Given the description of an element on the screen output the (x, y) to click on. 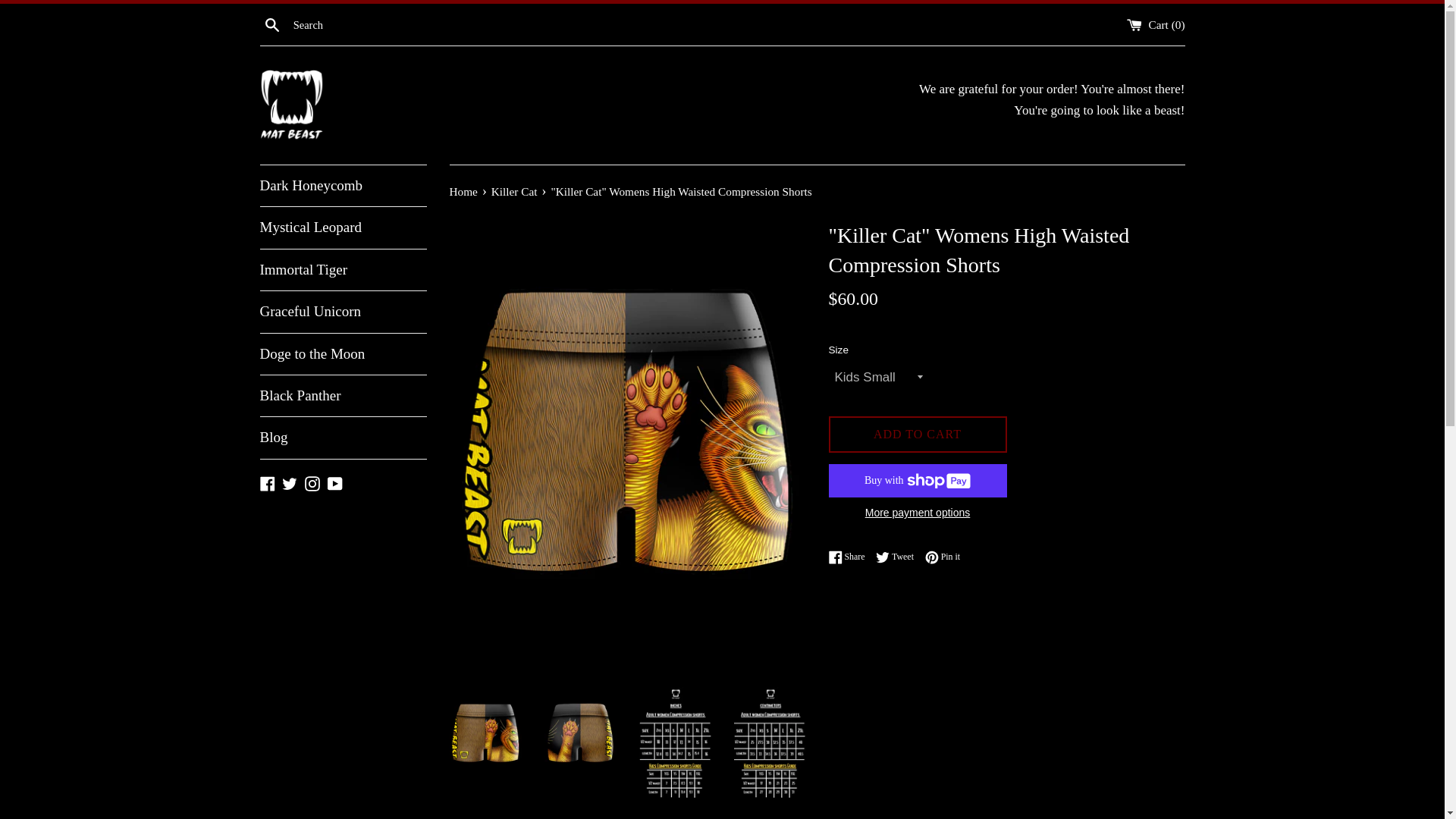
Mat Beast Fight Wear on Facebook (267, 482)
Back to the frontpage (464, 191)
Dark Honeycomb (898, 556)
Tweet on Twitter (342, 185)
Doge to the Moon (898, 556)
Black Panther (342, 353)
Home (342, 395)
Pin on Pinterest (464, 191)
Facebook (941, 556)
Immortal Tiger (267, 482)
Graceful Unicorn (342, 269)
Twitter (342, 311)
Mat Beast Fight Wear on Instagram (289, 482)
Mat Beast Fight Wear on Twitter (312, 482)
